Given the description of an element on the screen output the (x, y) to click on. 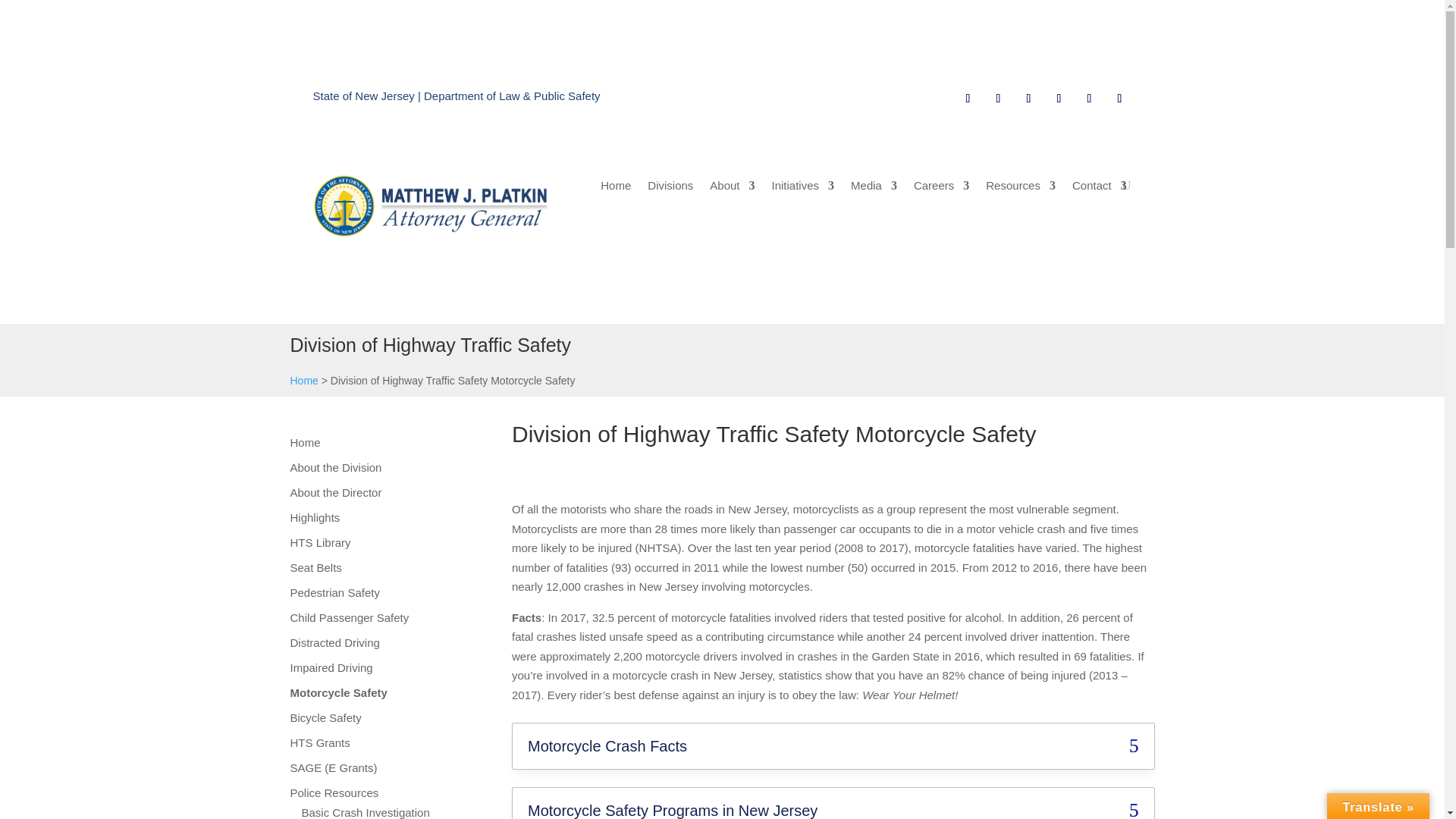
Follow on Twitter (997, 98)
About (732, 188)
Follow on Instagram (1028, 98)
Follow on LinkedIn (1088, 98)
Initiatives (802, 188)
Go to New Jersey Office of Attorney General. (303, 380)
Follow on Facebook (967, 98)
State of New Jersey (363, 95)
Follow on Flickr (1118, 98)
Follow on Youtube (1058, 98)
